Given the description of an element on the screen output the (x, y) to click on. 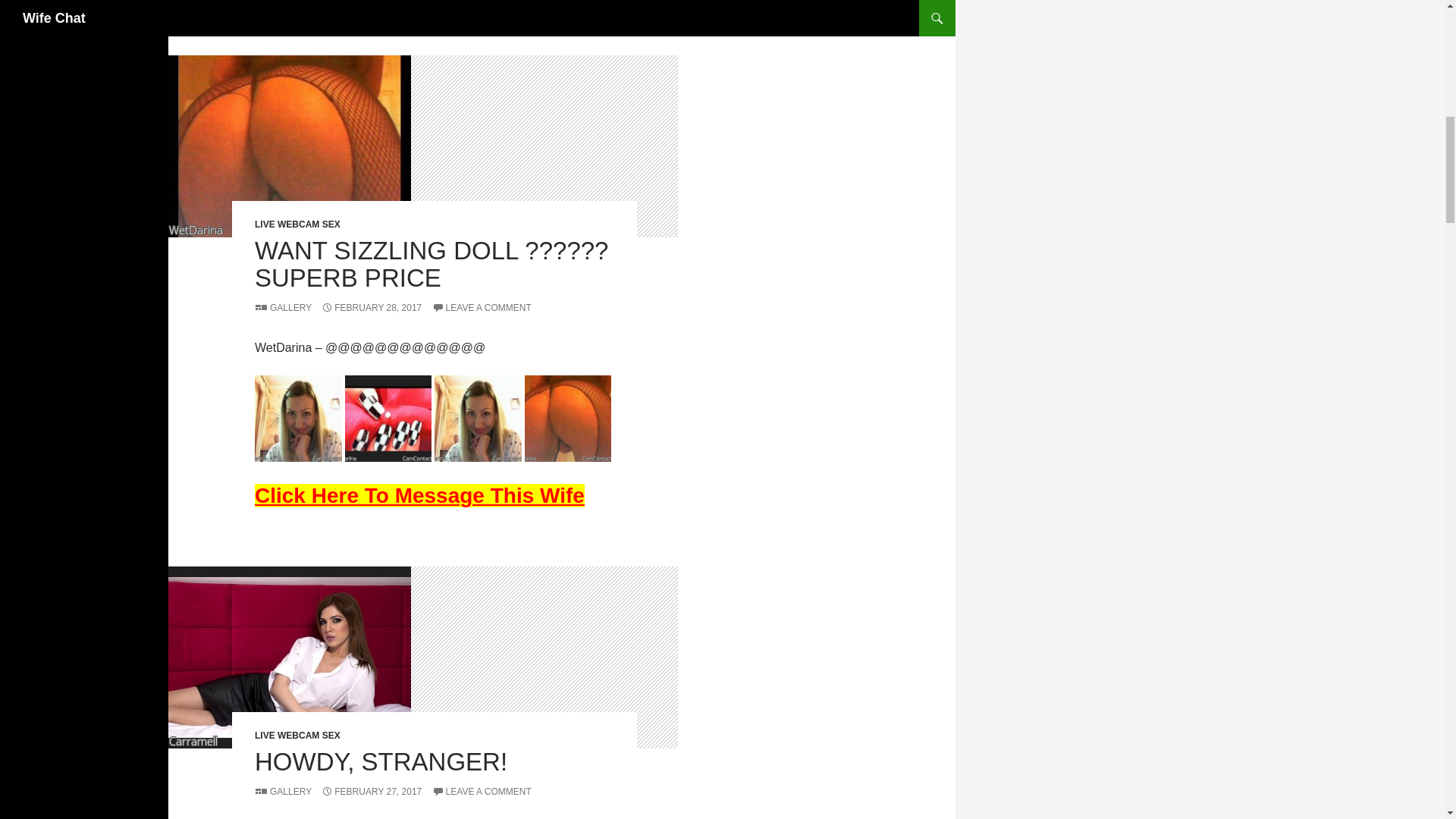
GALLERY (282, 791)
Click Here To Message This Wife (419, 495)
LIVE WEBCAM SEX (297, 735)
GALLERY (282, 307)
LIVE WEBCAM SEX (297, 224)
LEAVE A COMMENT (481, 307)
FEBRUARY 27, 2017 (371, 791)
Start Chat (419, 495)
LIVE (276, 9)
WANT SIZZLING DOLL ?????? SUPERB PRICE (431, 263)
